Given the description of an element on the screen output the (x, y) to click on. 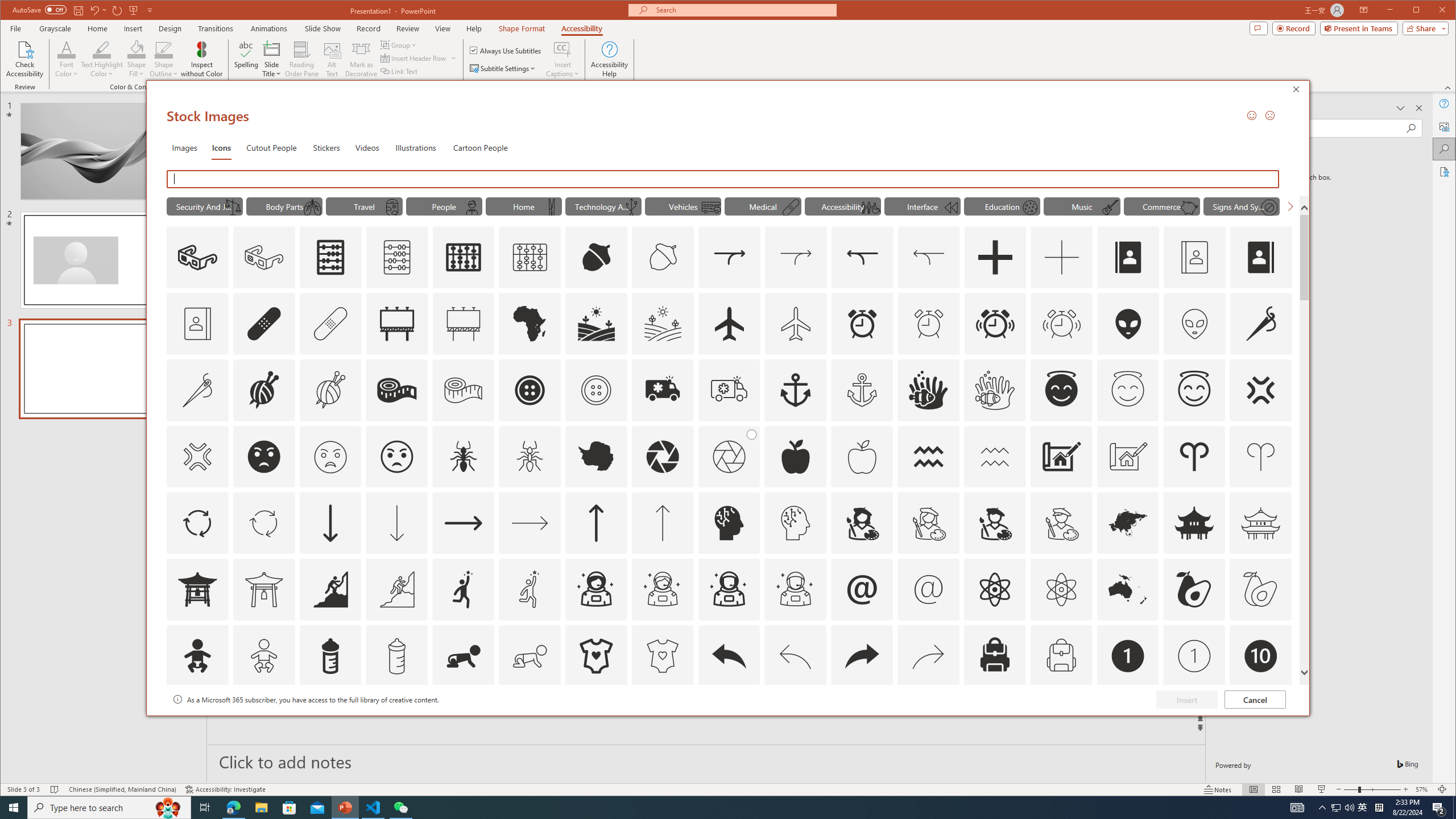
AutomationID: Icons_Back_LTR (729, 655)
AutomationID: Icons_ArrowRight_M (529, 522)
"Accessibility" Icons. (842, 206)
AutomationID: Icons_Acquisition_LTR_M (795, 256)
AutomationID: Icons_Backpack (994, 655)
AutomationID: Icons_Aperture_M (729, 456)
Videos (367, 147)
AutomationID: Icons_AsianTemple1_M (263, 589)
